Given the description of an element on the screen output the (x, y) to click on. 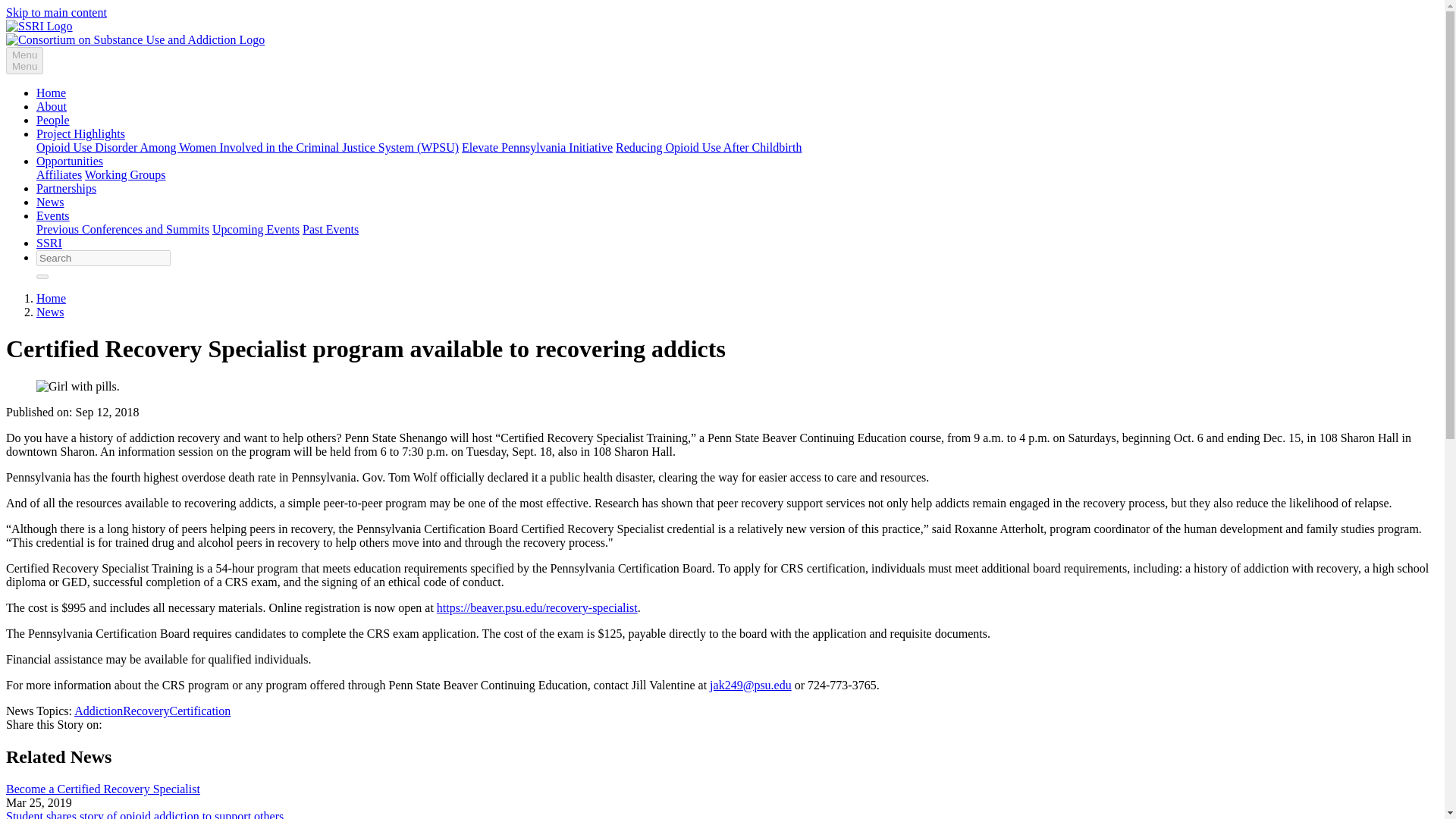
People (52, 119)
SSRI (49, 242)
Past Events (330, 228)
Skip to main content (55, 11)
Affiliates (58, 174)
Certification (199, 710)
Student shares story of opioid addiction to support others (144, 814)
Reducing Opioid Use After Childbirth (708, 146)
Working Groups (124, 174)
Opportunities (69, 160)
